Given the description of an element on the screen output the (x, y) to click on. 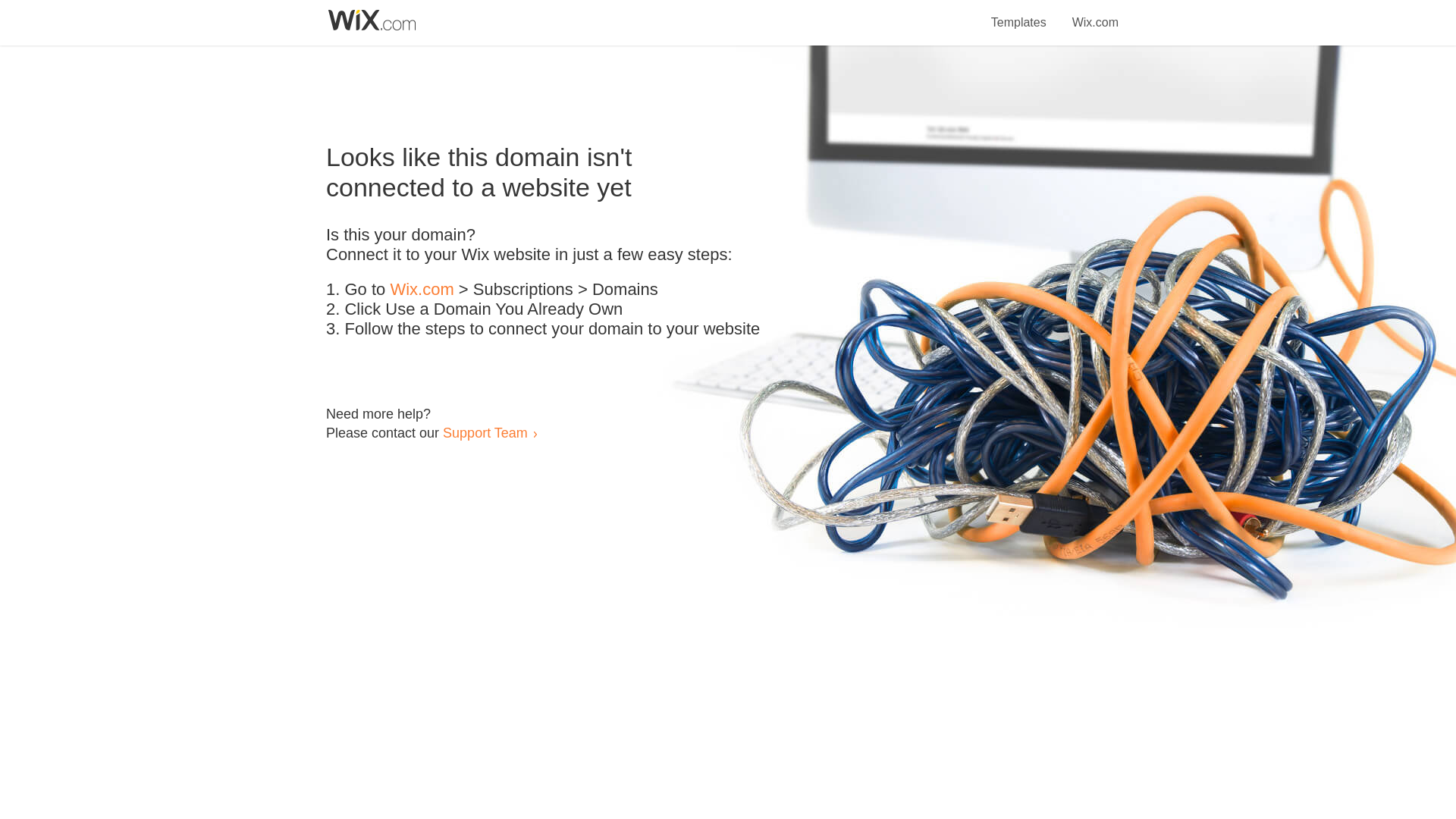
Wix.com (1095, 14)
Templates (1018, 14)
Support Team (484, 432)
Wix.com (421, 289)
